Given the description of an element on the screen output the (x, y) to click on. 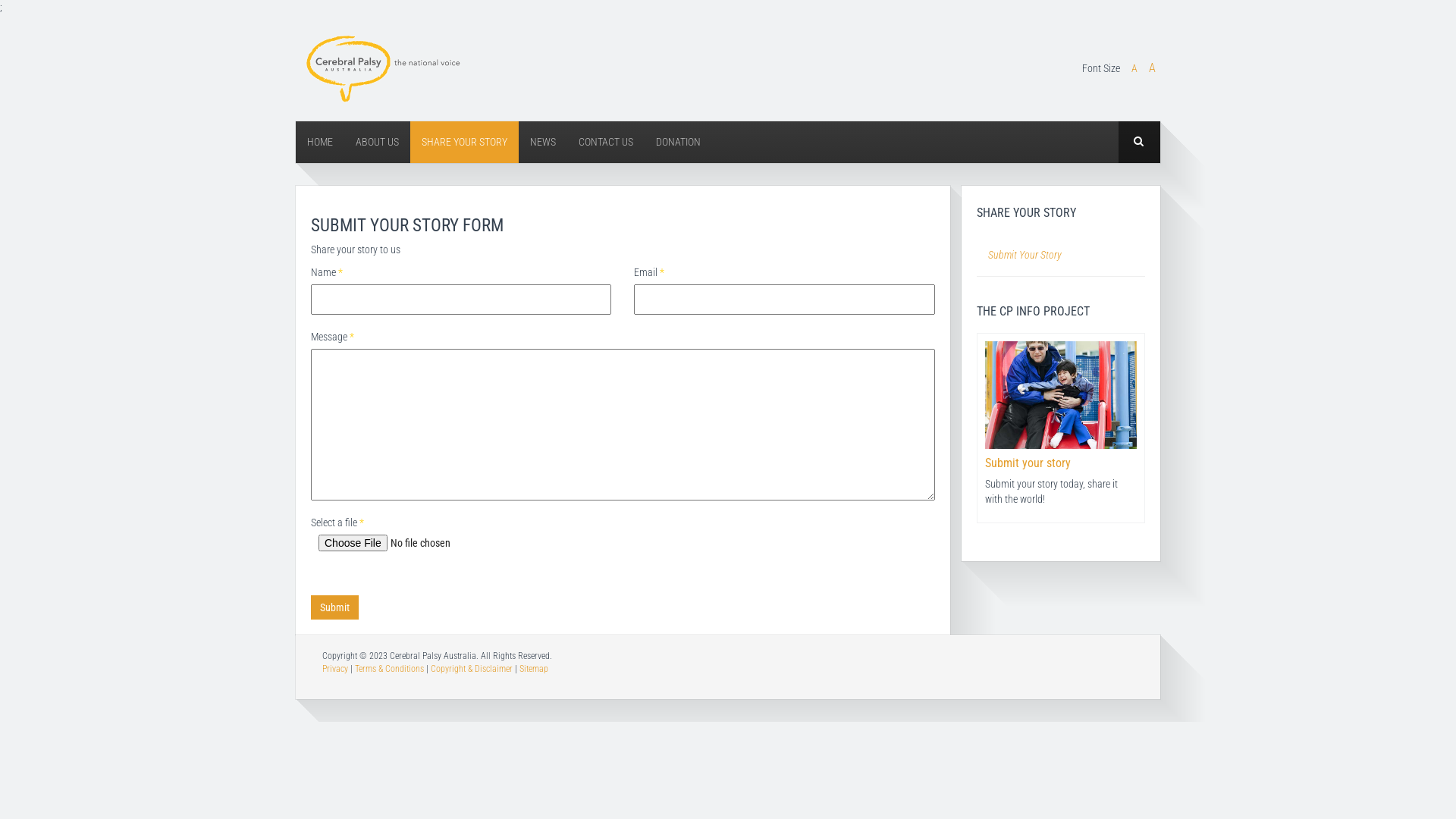
Cerebral Palsy Australia Element type: hover (378, 67)
Privacy Element type: text (335, 668)
Copyright & Disclaimer Element type: text (471, 668)
Sitemap Element type: text (533, 668)
Submit Element type: text (334, 607)
A Element type: text (1151, 67)
SHARE YOUR STORY Element type: text (464, 142)
NEWS Element type: text (542, 142)
ABOUT US Element type: text (377, 142)
Submit Your Story Element type: text (1060, 255)
Submit your story Element type: text (1060, 463)
A Element type: text (1134, 68)
Terms & Conditions Element type: text (388, 668)
DONATION Element type: text (678, 142)
CONTACT US Element type: text (605, 142)
HOME Element type: text (319, 142)
